Given the description of an element on the screen output the (x, y) to click on. 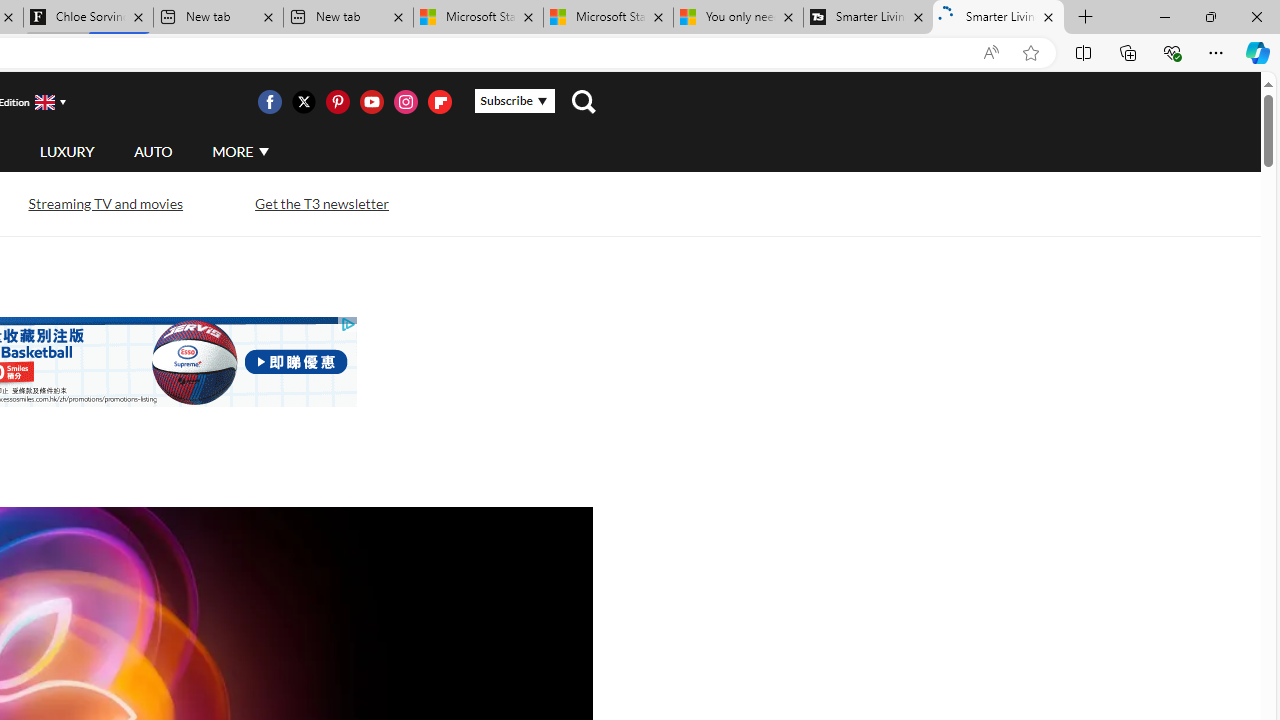
Visit us on Pintrest (337, 101)
Streaming TV and movies (104, 202)
Get the T3 newsletter (320, 204)
Class: navigation__search (583, 101)
MORE  (239, 151)
Visit us on Youtube (371, 101)
Class: icon-svg (439, 101)
AUTO (153, 151)
Visit us on Flipboard (439, 101)
